Given the description of an element on the screen output the (x, y) to click on. 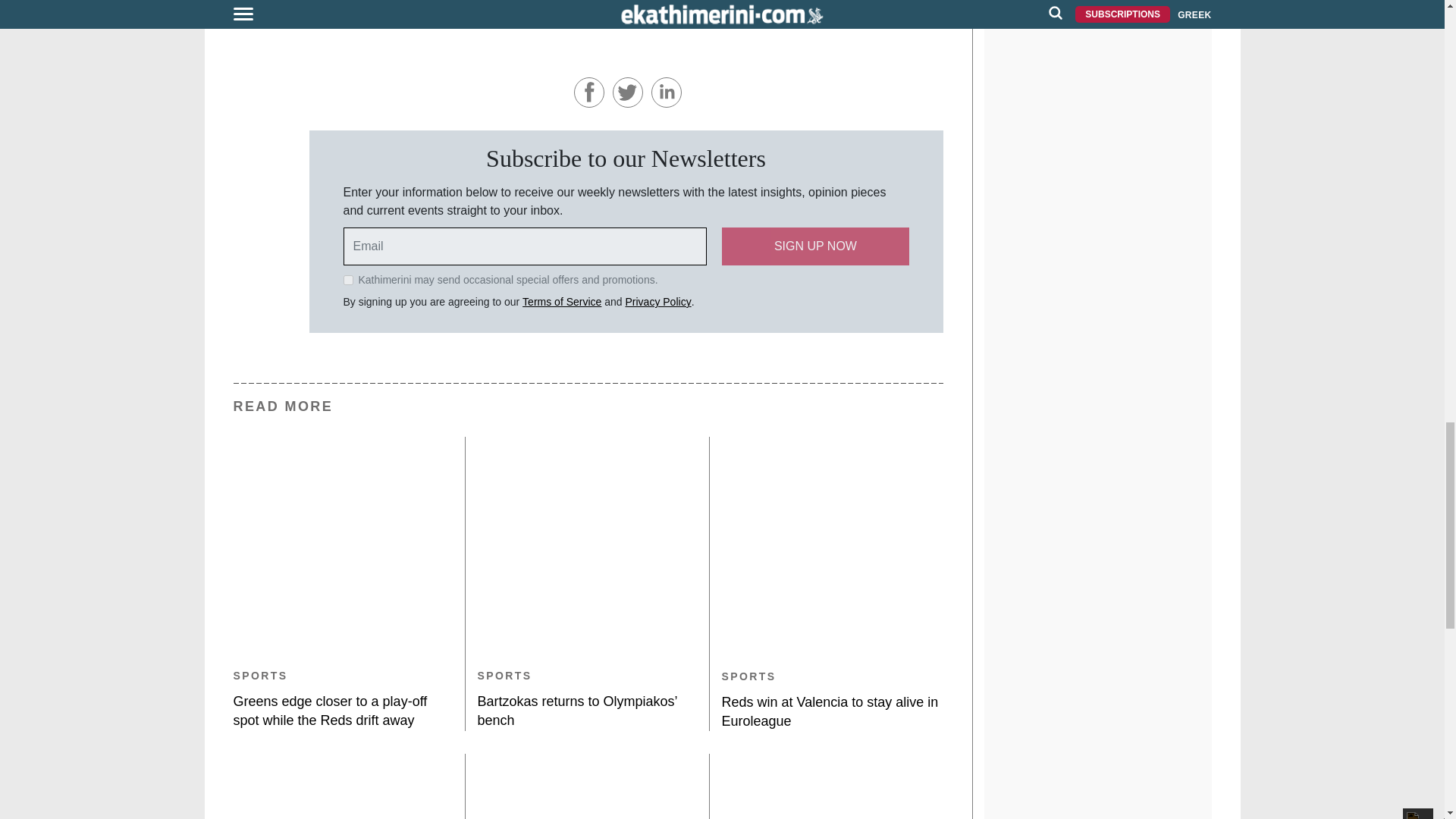
on (347, 280)
